Given the description of an element on the screen output the (x, y) to click on. 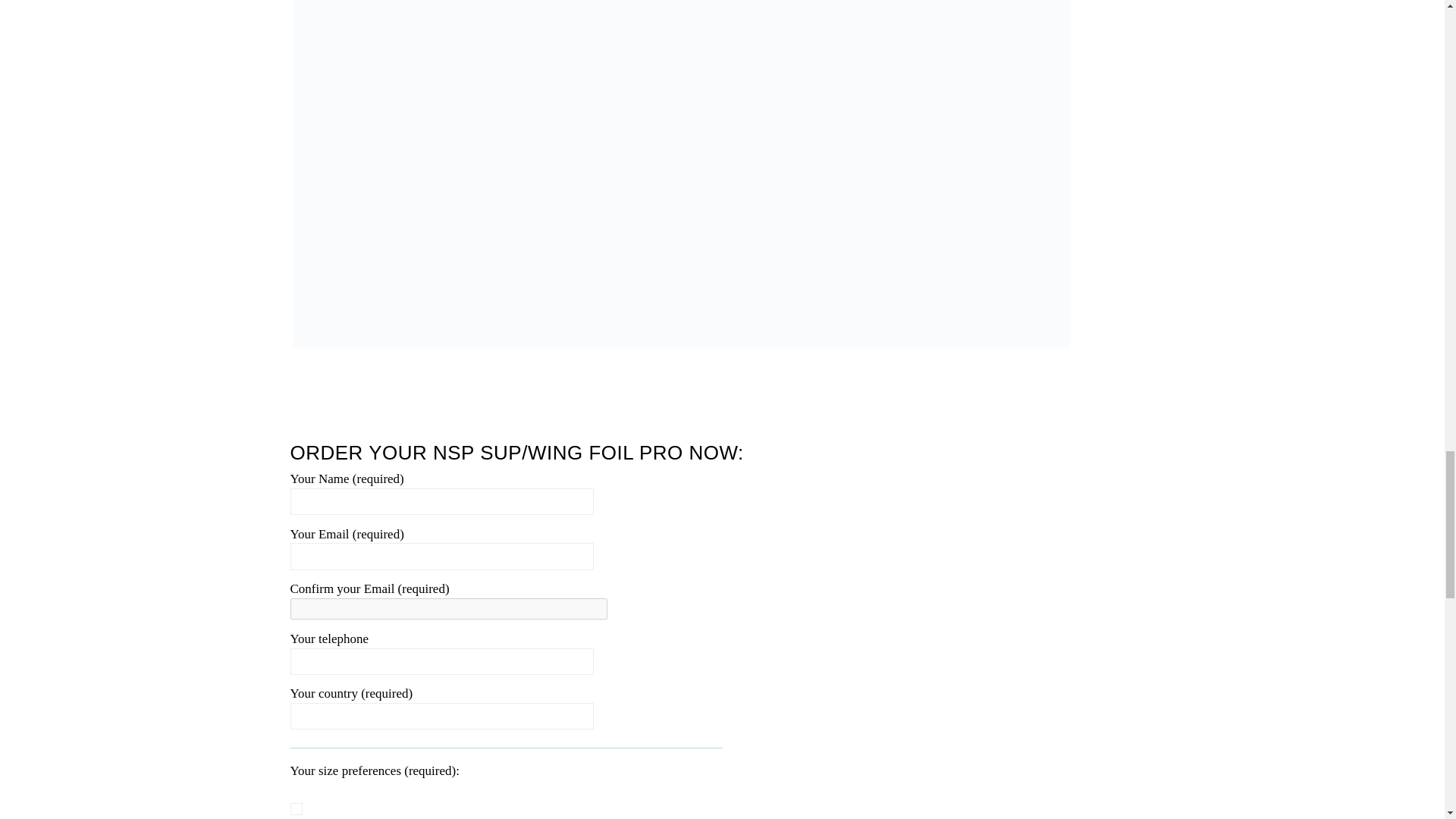
5'6 (295, 808)
